Given the description of an element on the screen output the (x, y) to click on. 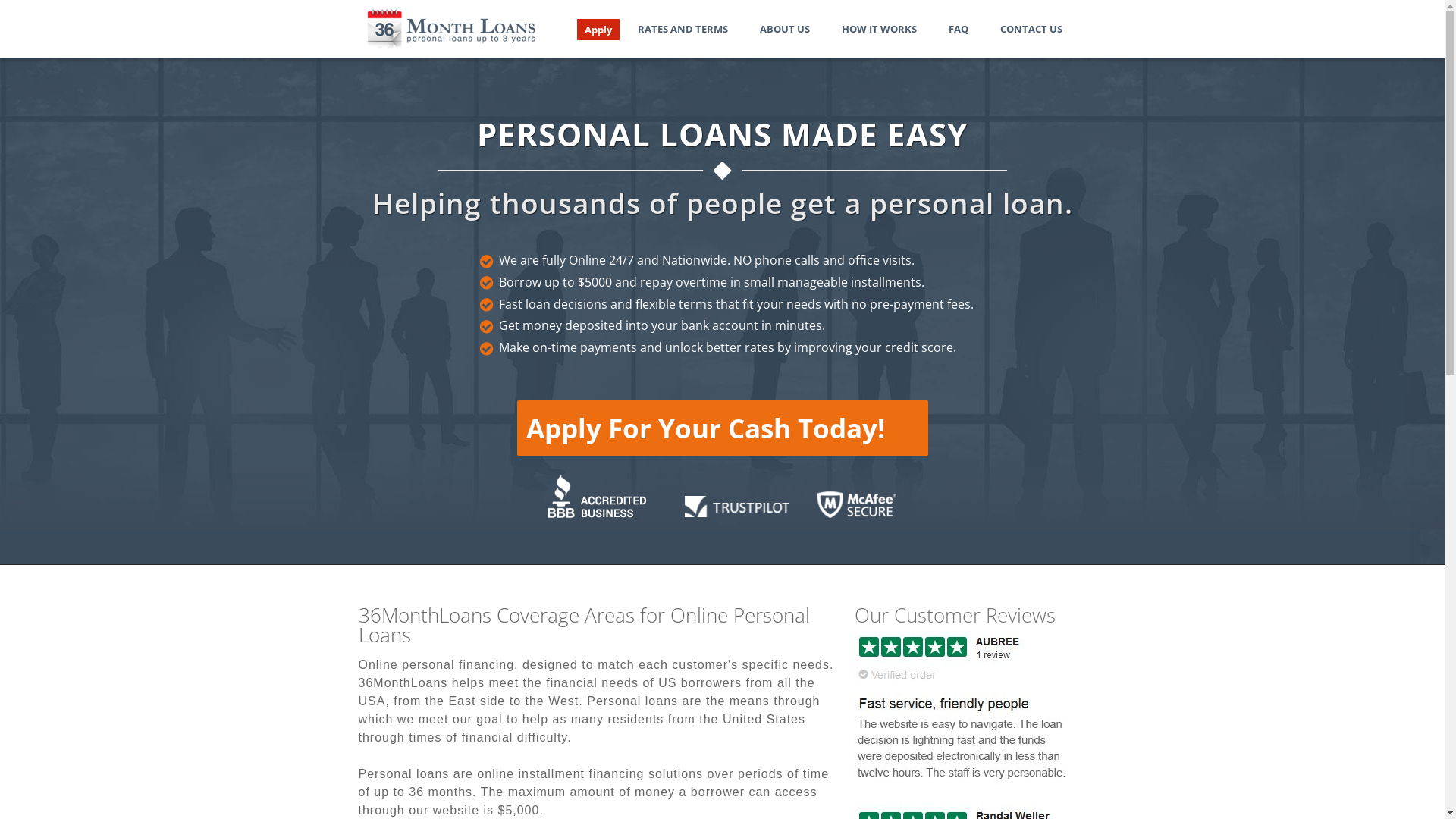
Apply For Your Cash Today! Element type: text (722, 427)
FAQ Element type: text (957, 28)
Apply Element type: text (597, 29)
ABOUT US Element type: text (784, 28)
HOW IT WORKS Element type: text (879, 28)
CONTACT US Element type: text (1030, 28)
RATES AND TERMS Element type: text (681, 28)
